Given the description of an element on the screen output the (x, y) to click on. 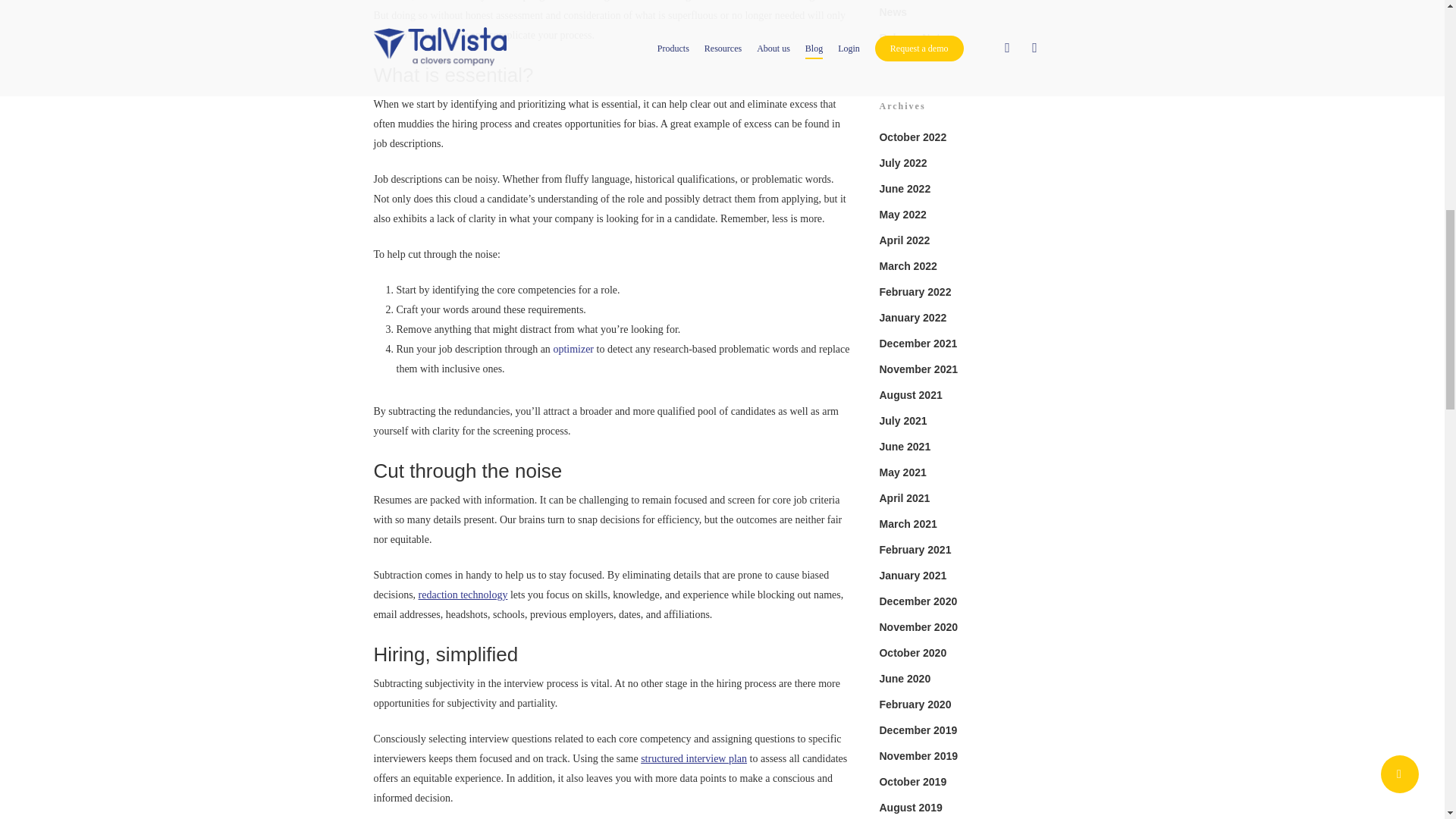
redaction technology (463, 594)
optimizer (573, 348)
structured interview plan (693, 758)
